Given the description of an element on the screen output the (x, y) to click on. 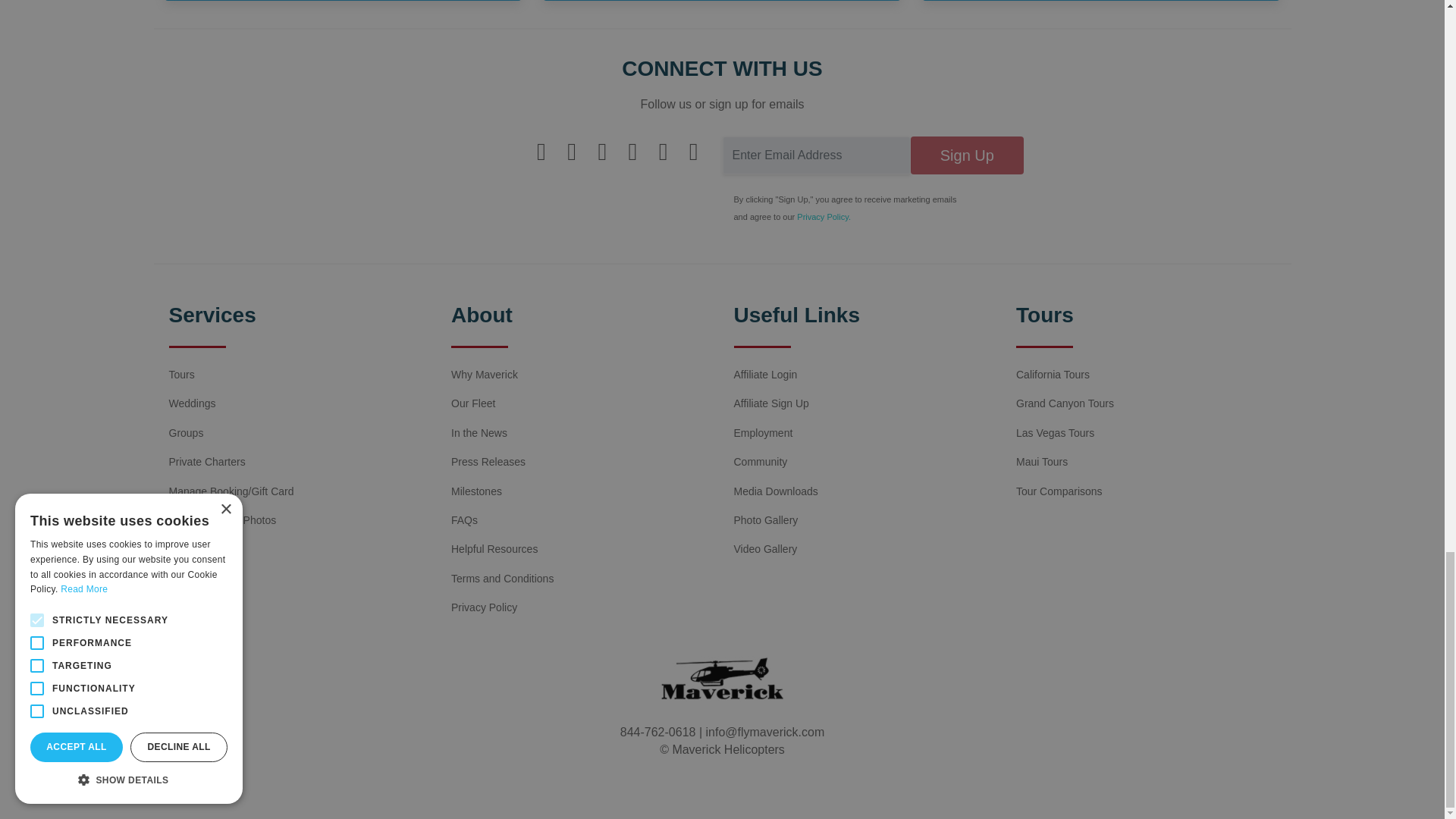
Maverick Helicopter Tours (721, 678)
Sign Up (967, 155)
